Given the description of an element on the screen output the (x, y) to click on. 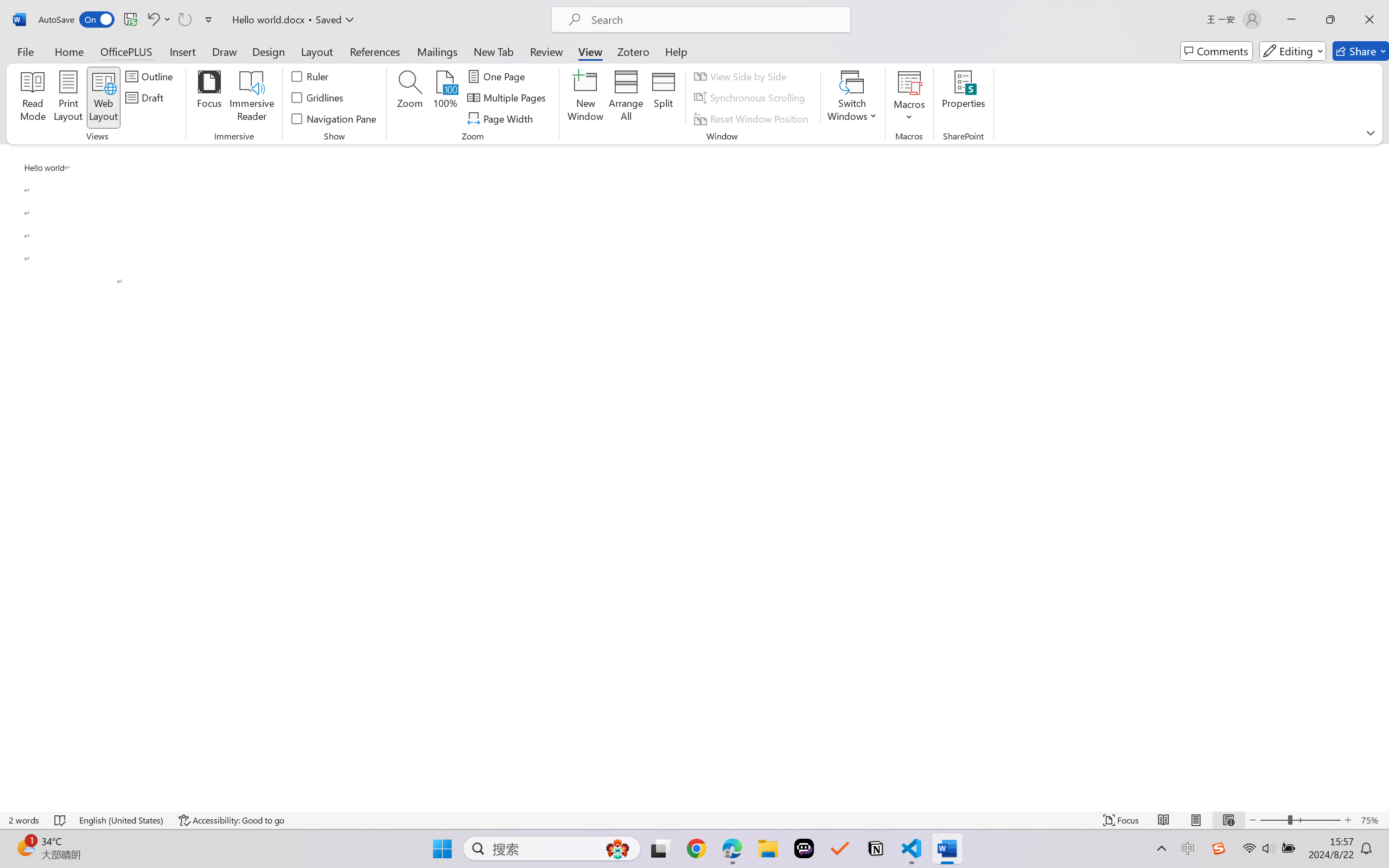
AutomationID: DynamicSearchBoxGleamImage (617, 848)
Microsoft search (715, 19)
New Tab (493, 51)
One Page (497, 75)
Home (69, 51)
View (589, 51)
Customize Quick Access Toolbar (208, 19)
Navigation Pane (334, 118)
Ruler (309, 75)
Immersive Reader (251, 97)
Arrange All (625, 97)
100% (445, 97)
AutoSave (76, 19)
Save (130, 19)
